Given the description of an element on the screen output the (x, y) to click on. 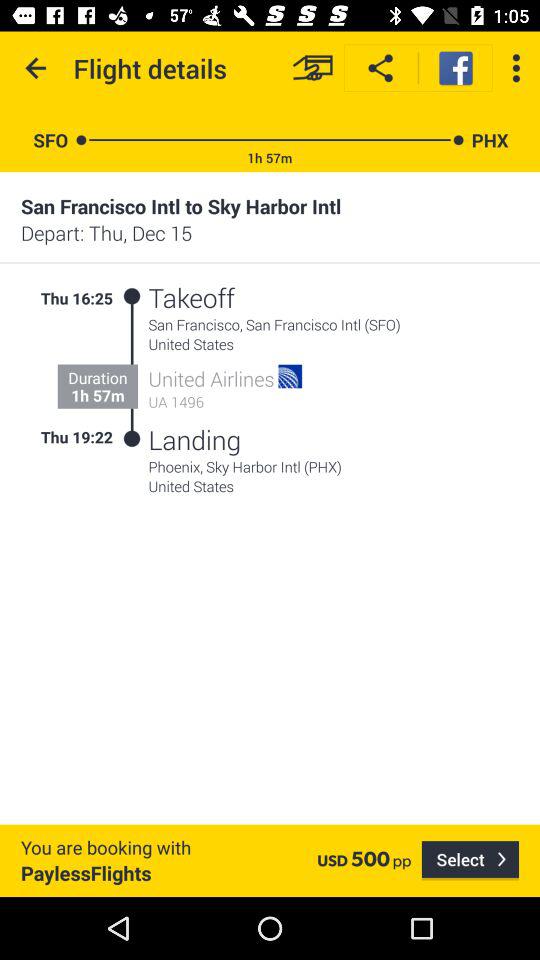
select icon below the united states icon (470, 860)
